Given the description of an element on the screen output the (x, y) to click on. 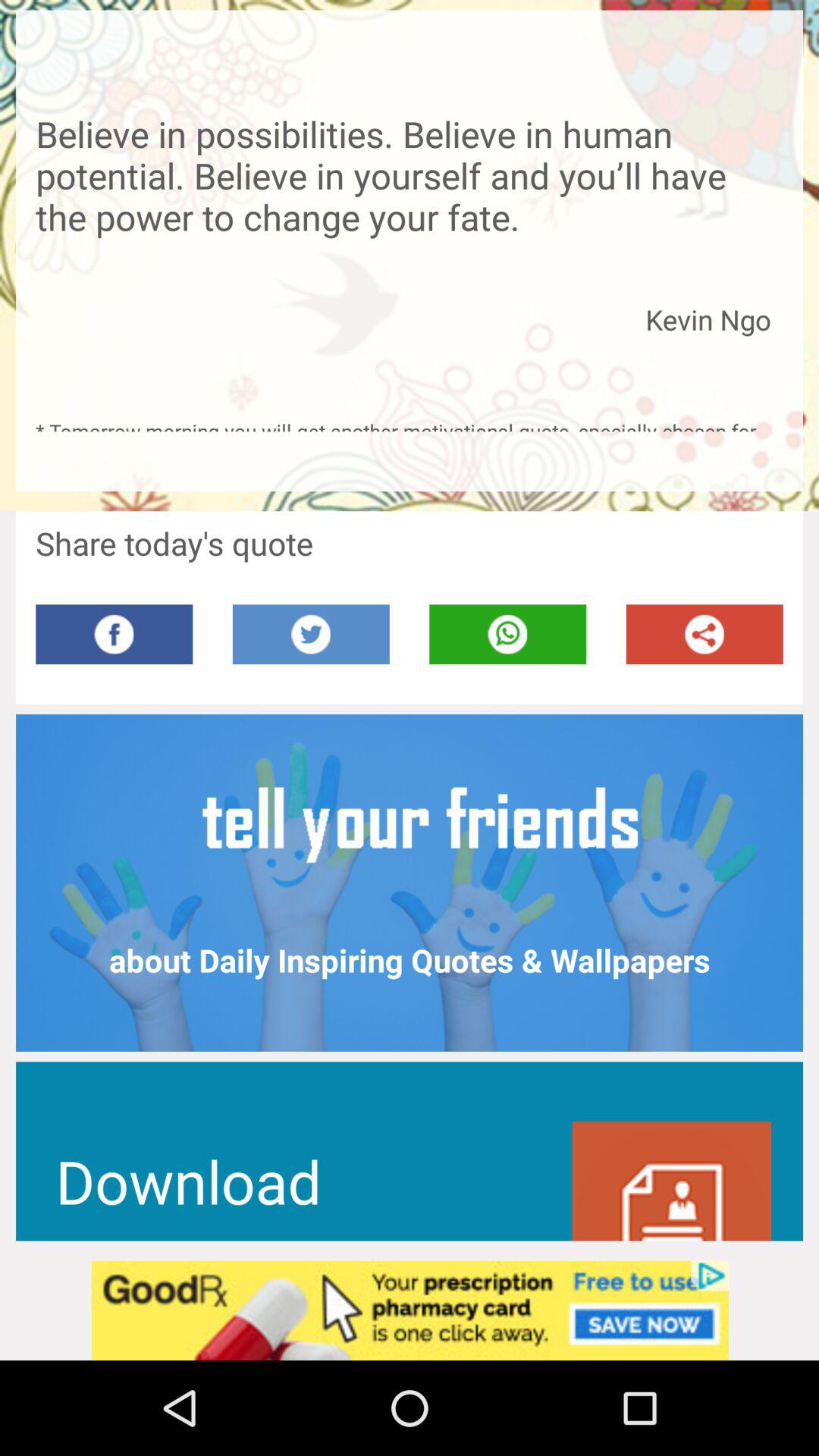
whatsapp image (507, 634)
